Given the description of an element on the screen output the (x, y) to click on. 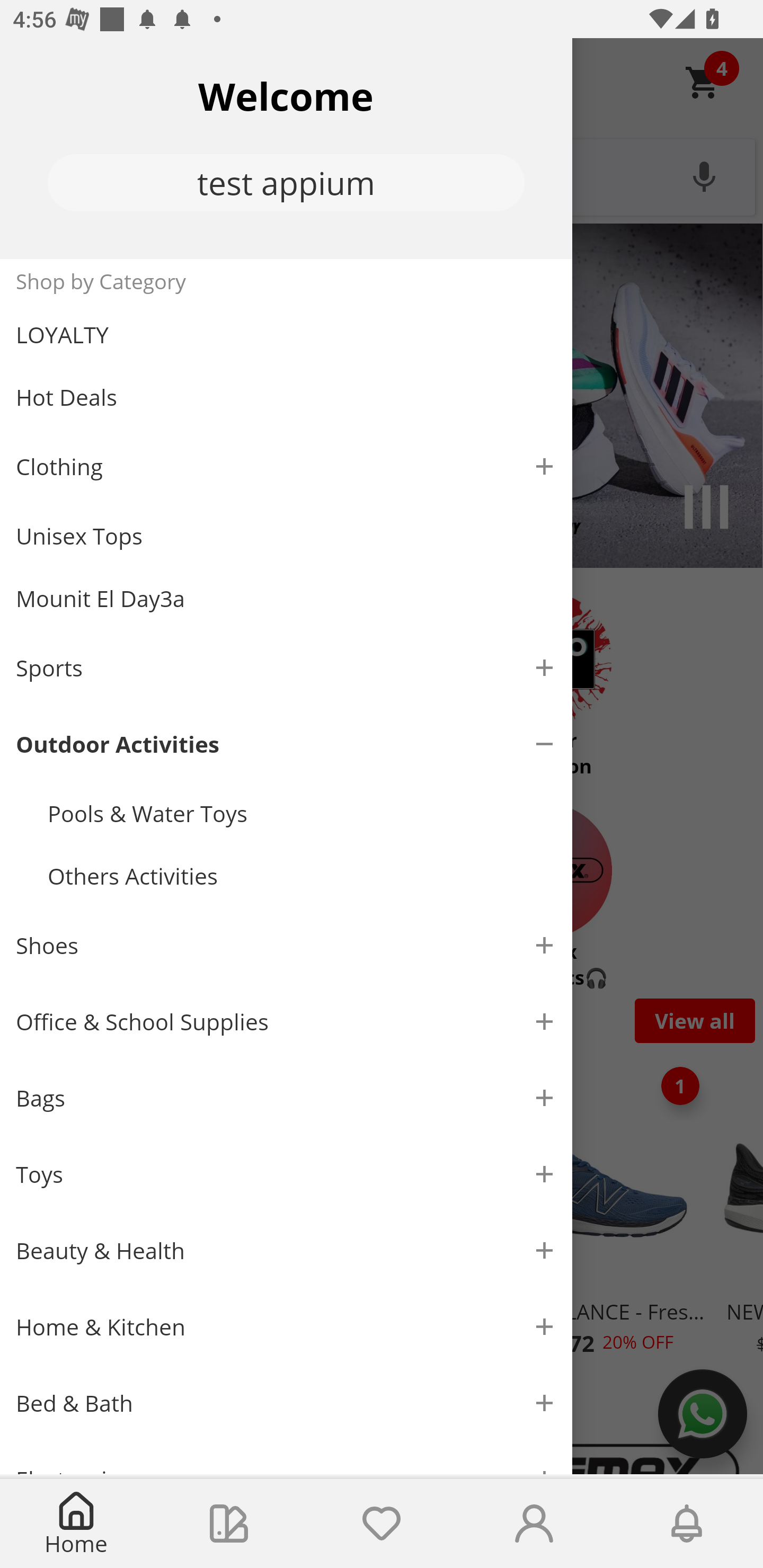
Welcome test appium (286, 147)
What are you looking for? (381, 175)
LOYALTY (286, 334)
Hot Deals (286, 396)
Clothing (286, 466)
Unisex Tops (286, 535)
Mounit El Day3a (286, 598)
Sports (286, 667)
Pools & Water Toys (302, 813)
Others Activities (302, 876)
Shoes (286, 945)
Office & School Supplies (286, 1021)
Bags (286, 1097)
Toys (286, 1174)
Beauty & Health (286, 1250)
Home & Kitchen (286, 1326)
Bed & Bath (286, 1402)
Collections (228, 1523)
Wishlist (381, 1523)
Account (533, 1523)
Notifications (686, 1523)
